Given the description of an element on the screen output the (x, y) to click on. 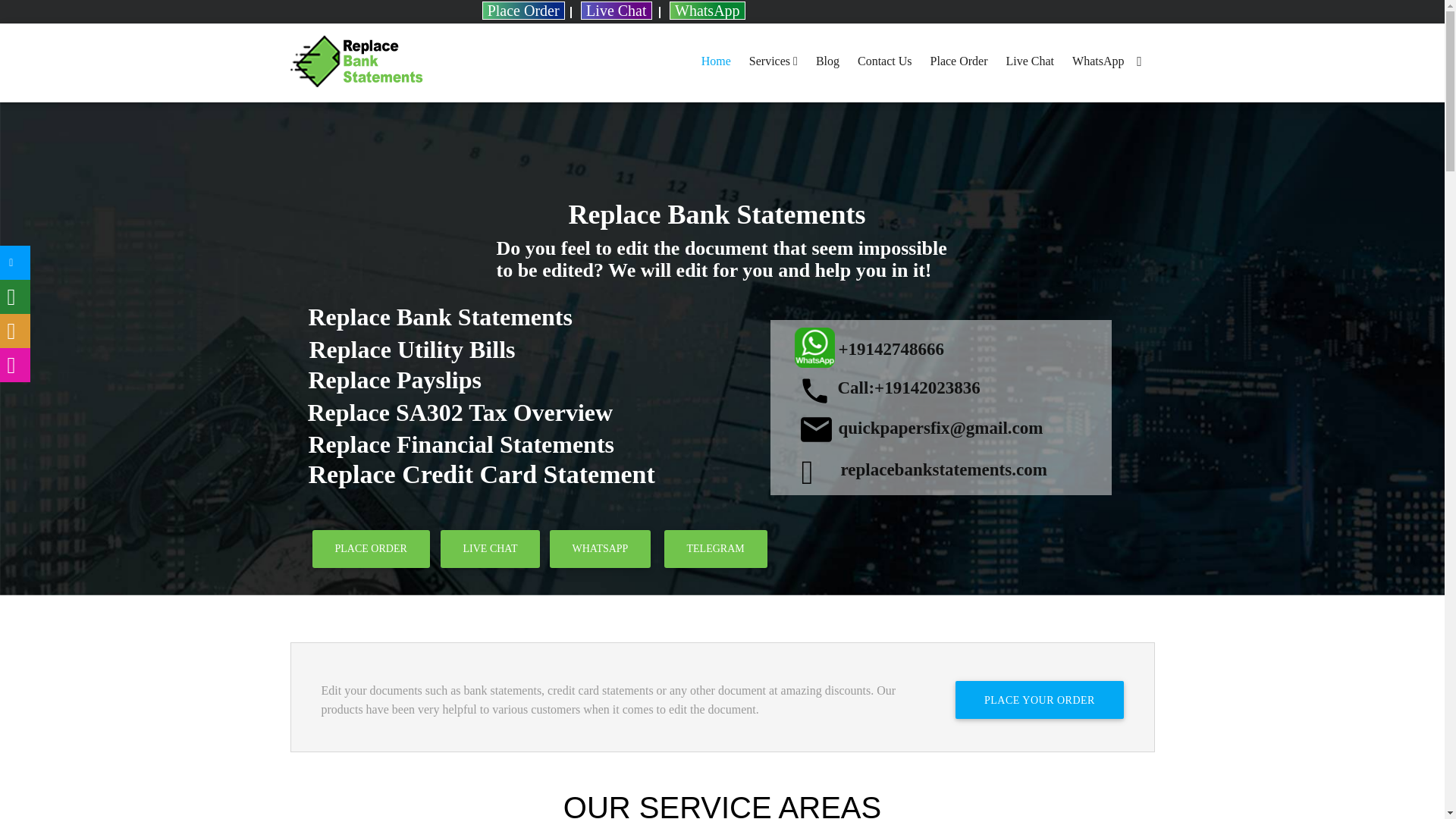
Home (716, 61)
Services (773, 61)
Services (773, 61)
Replace Bankstatement (355, 62)
Home (716, 61)
WhatsApp (707, 10)
Live Chat (615, 10)
Place Order (522, 10)
